Given the description of an element on the screen output the (x, y) to click on. 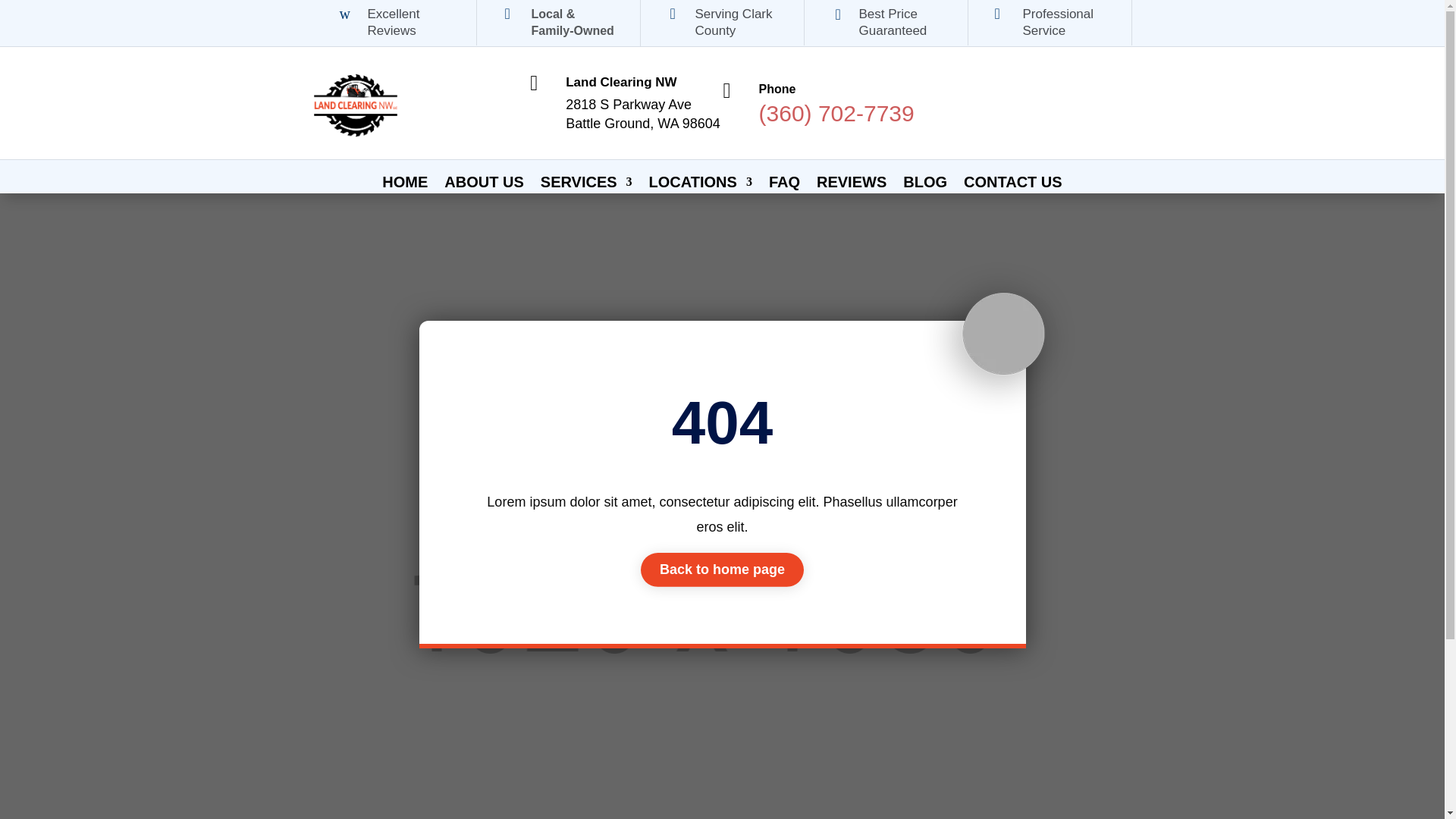
ABOUT US (483, 184)
SERVICES (585, 184)
LOCATIONS (700, 184)
Logo LAND CLEARING NW (355, 102)
HOME (404, 184)
floating-200x200 (997, 338)
